Given the description of an element on the screen output the (x, y) to click on. 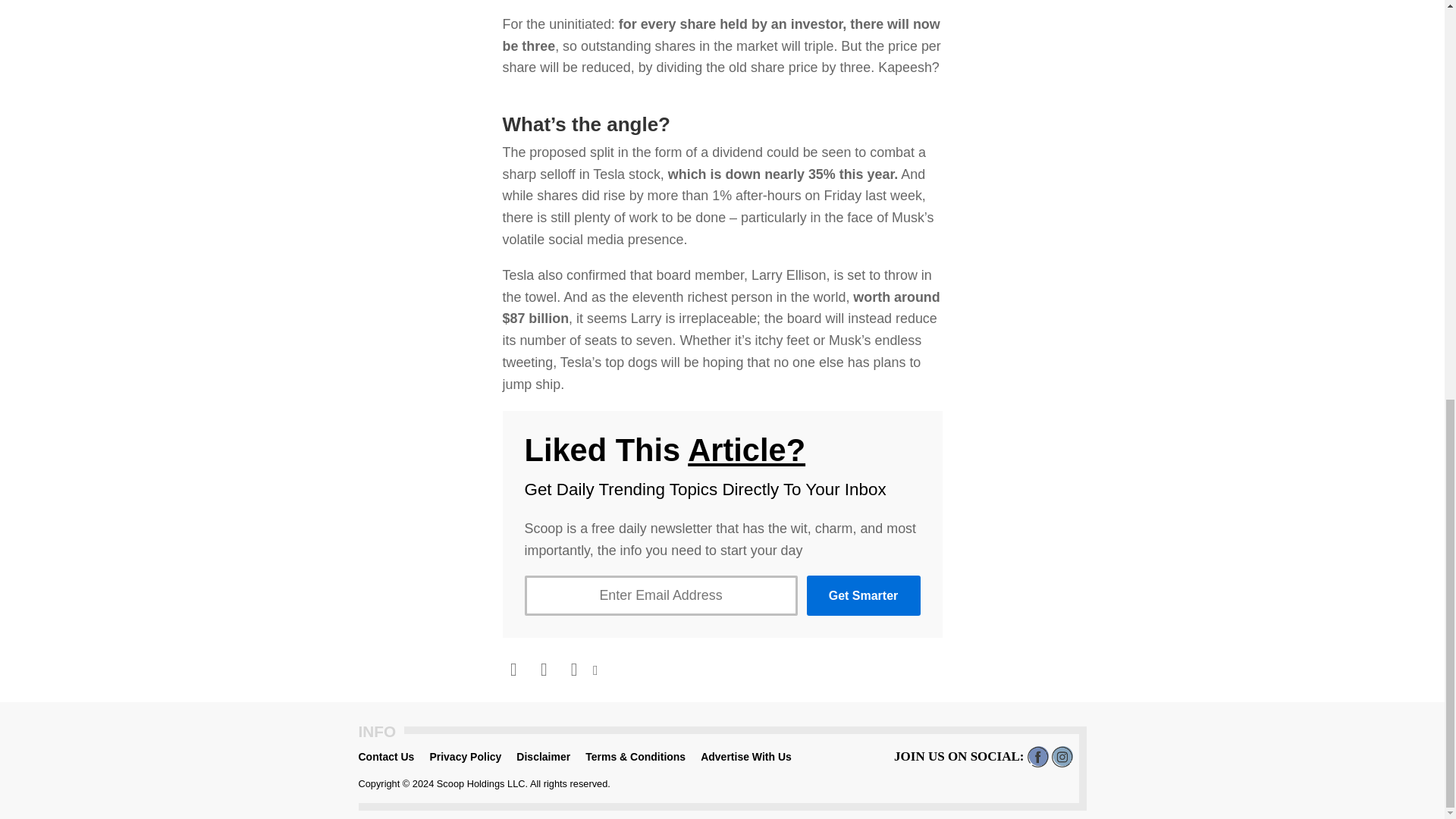
Disclaimer (543, 756)
twitter (543, 673)
Contact Us (385, 756)
Advertise With Us (746, 756)
Privacy Policy (464, 756)
Get Smarter (863, 595)
linkedin (573, 673)
facebook (513, 673)
